Given the description of an element on the screen output the (x, y) to click on. 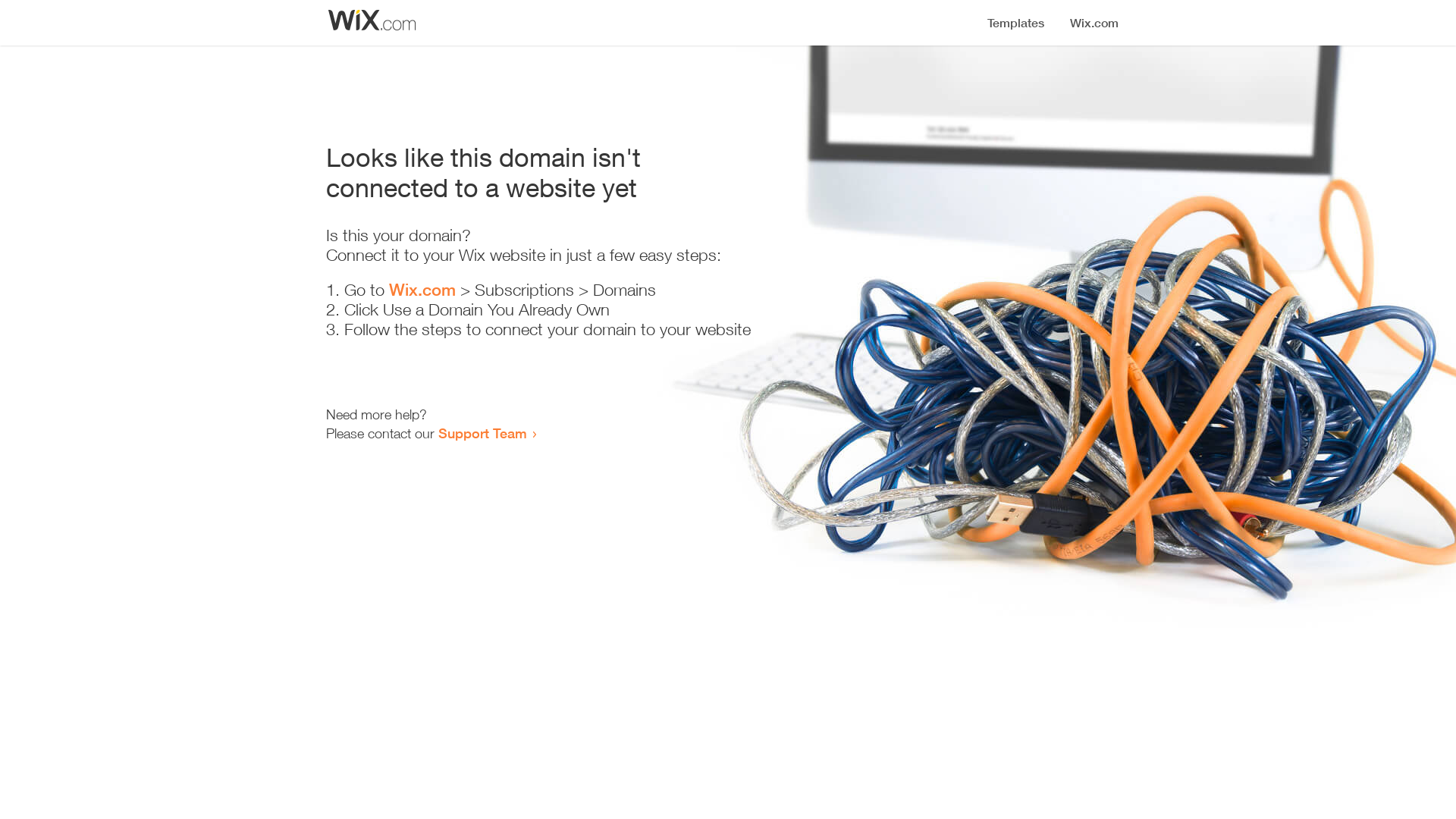
Support Team Element type: text (482, 432)
Wix.com Element type: text (422, 289)
